Given the description of an element on the screen output the (x, y) to click on. 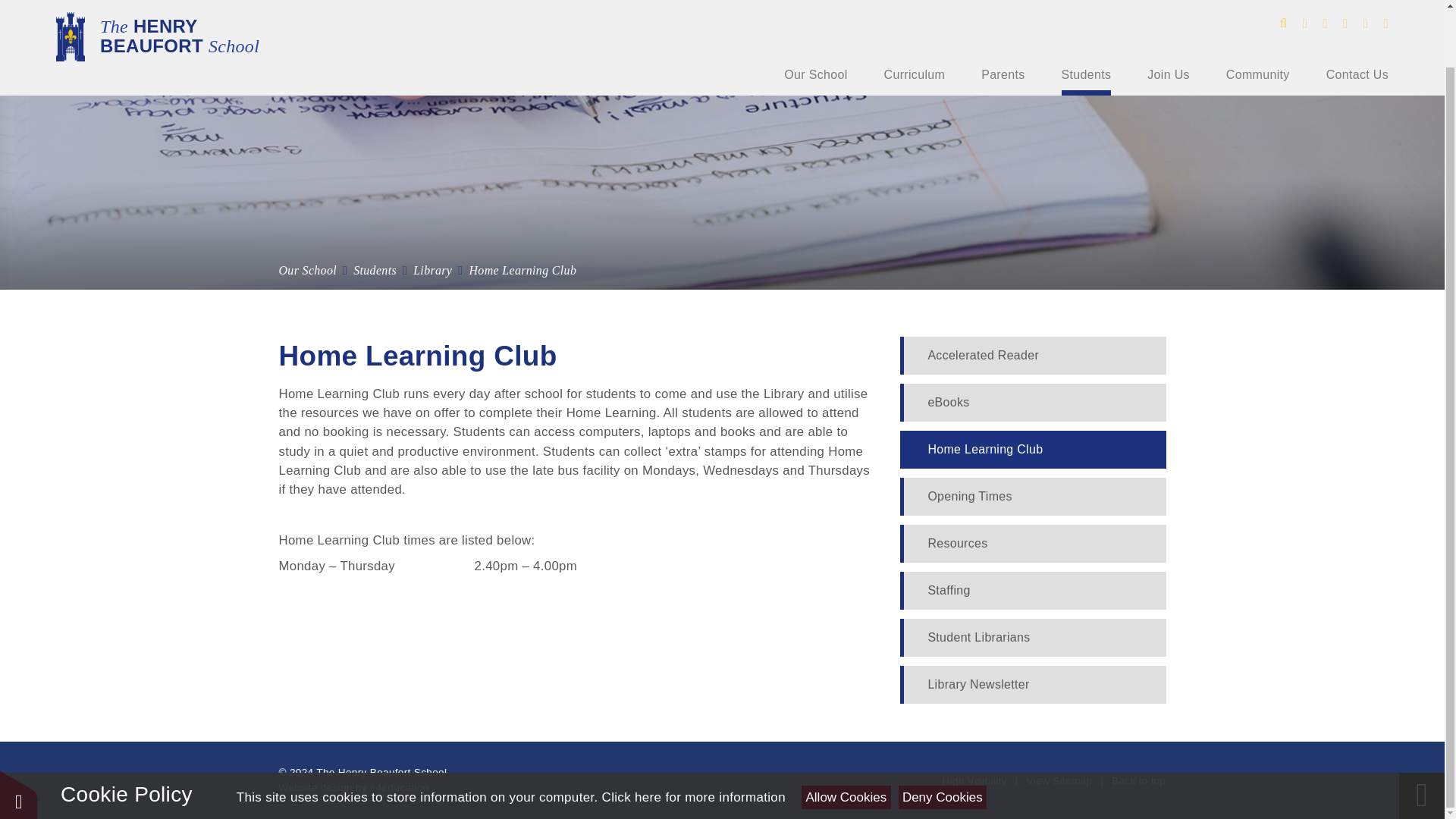
Our School (815, 12)
Allow Cookies (845, 734)
Curriculum (913, 12)
Deny Cookies (942, 734)
See cookie policy (694, 735)
